Given the description of an element on the screen output the (x, y) to click on. 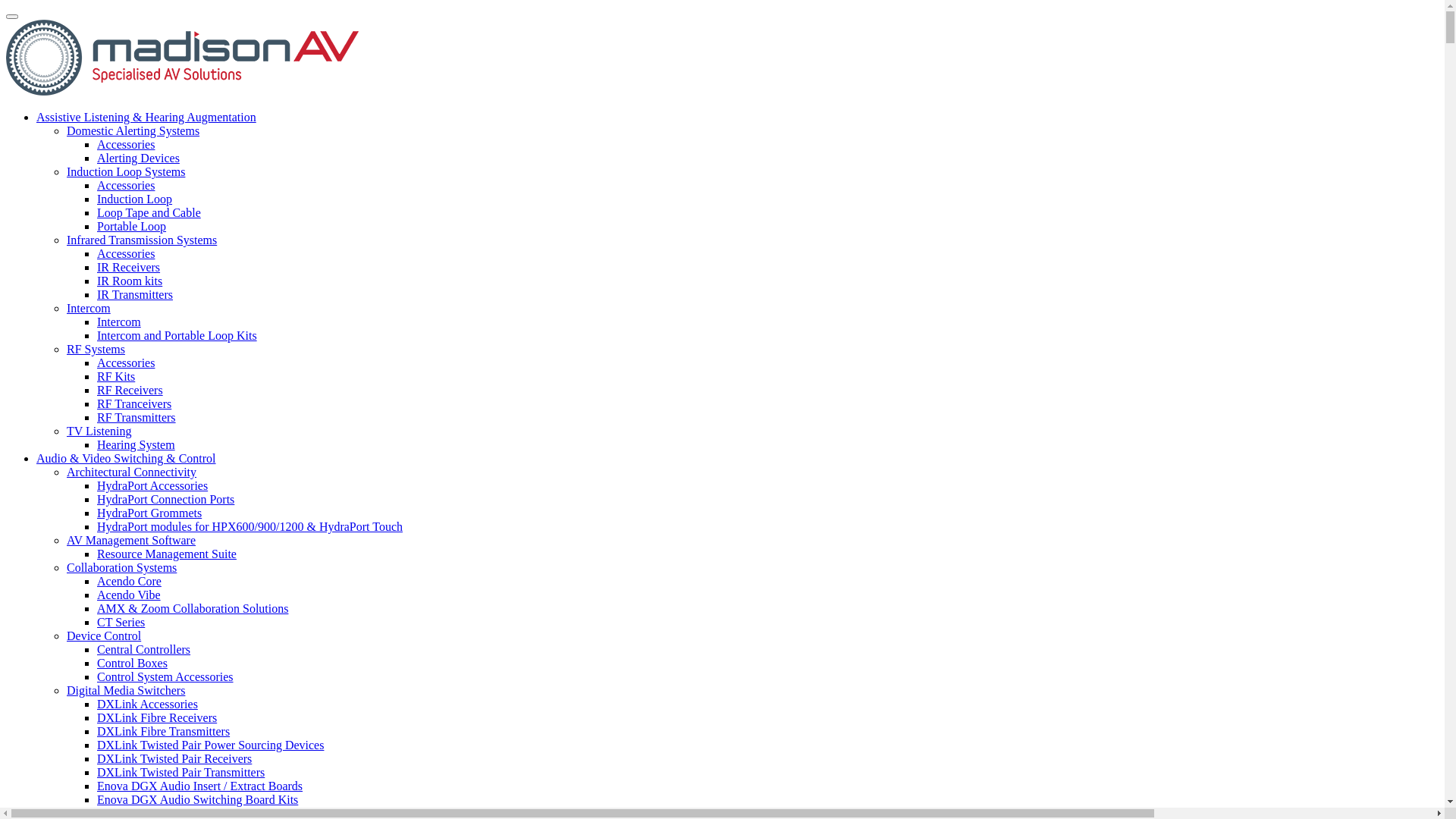
DXLink Twisted Pair Transmitters Element type: text (180, 771)
RF Tranceivers Element type: text (134, 403)
Central Controllers Element type: text (143, 649)
DXLink Fibre Transmitters Element type: text (163, 730)
Induction Loop Element type: text (134, 198)
Domestic Alerting Systems Element type: text (132, 130)
HydraPort modules for HPX600/900/1200 & HydraPort Touch Element type: text (249, 526)
Device Control Element type: text (103, 635)
DXLink Twisted Pair Power Sourcing Devices Element type: text (210, 744)
TV Listening Element type: text (98, 430)
Loop Tape and Cable Element type: text (148, 212)
RF Transmitters Element type: text (136, 417)
HydraPort Connection Ports Element type: text (165, 498)
Accessories Element type: text (125, 184)
Acendo Vibe Element type: text (128, 594)
Enova DGX Audio Switching Board Kits Element type: text (197, 799)
Alerting Devices Element type: text (138, 157)
RF Systems Element type: text (95, 348)
Accessories Element type: text (125, 144)
Accessories Element type: text (125, 253)
Intercom Element type: text (119, 321)
Induction Loop Systems Element type: text (125, 171)
Portable Loop Element type: text (131, 225)
DXLink Accessories Element type: text (147, 703)
Intercom and Portable Loop Kits Element type: text (177, 335)
CT Series Element type: text (120, 621)
Audio & Video Switching & Control Element type: text (126, 457)
Resource Management Suite Element type: text (166, 553)
Acendo Core Element type: text (129, 580)
HydraPort Grommets Element type: text (149, 512)
Intercom Element type: text (88, 307)
IR Room kits Element type: text (129, 280)
HydraPort Accessories Element type: text (152, 485)
Assistive Listening & Hearing Augmentation Element type: text (146, 116)
Accessories Element type: text (125, 362)
RF Kits Element type: text (115, 376)
Hearing System Element type: text (136, 444)
Infrared Transmission Systems Element type: text (141, 239)
AV Management Software Element type: text (130, 539)
DXLink Twisted Pair Receivers Element type: text (174, 758)
Digital Media Switchers Element type: text (125, 690)
Collaboration Systems Element type: text (121, 567)
DXLink Fibre Receivers Element type: text (156, 717)
RF Receivers Element type: text (130, 389)
Enova DGX Audio Insert / Extract Boards Element type: text (199, 785)
AMX & Zoom Collaboration Solutions Element type: text (192, 608)
Architectural Connectivity Element type: text (131, 471)
Control Boxes Element type: text (132, 662)
IR Transmitters Element type: text (134, 294)
Control System Accessories Element type: text (165, 676)
IR Receivers Element type: text (128, 266)
